Given the description of an element on the screen output the (x, y) to click on. 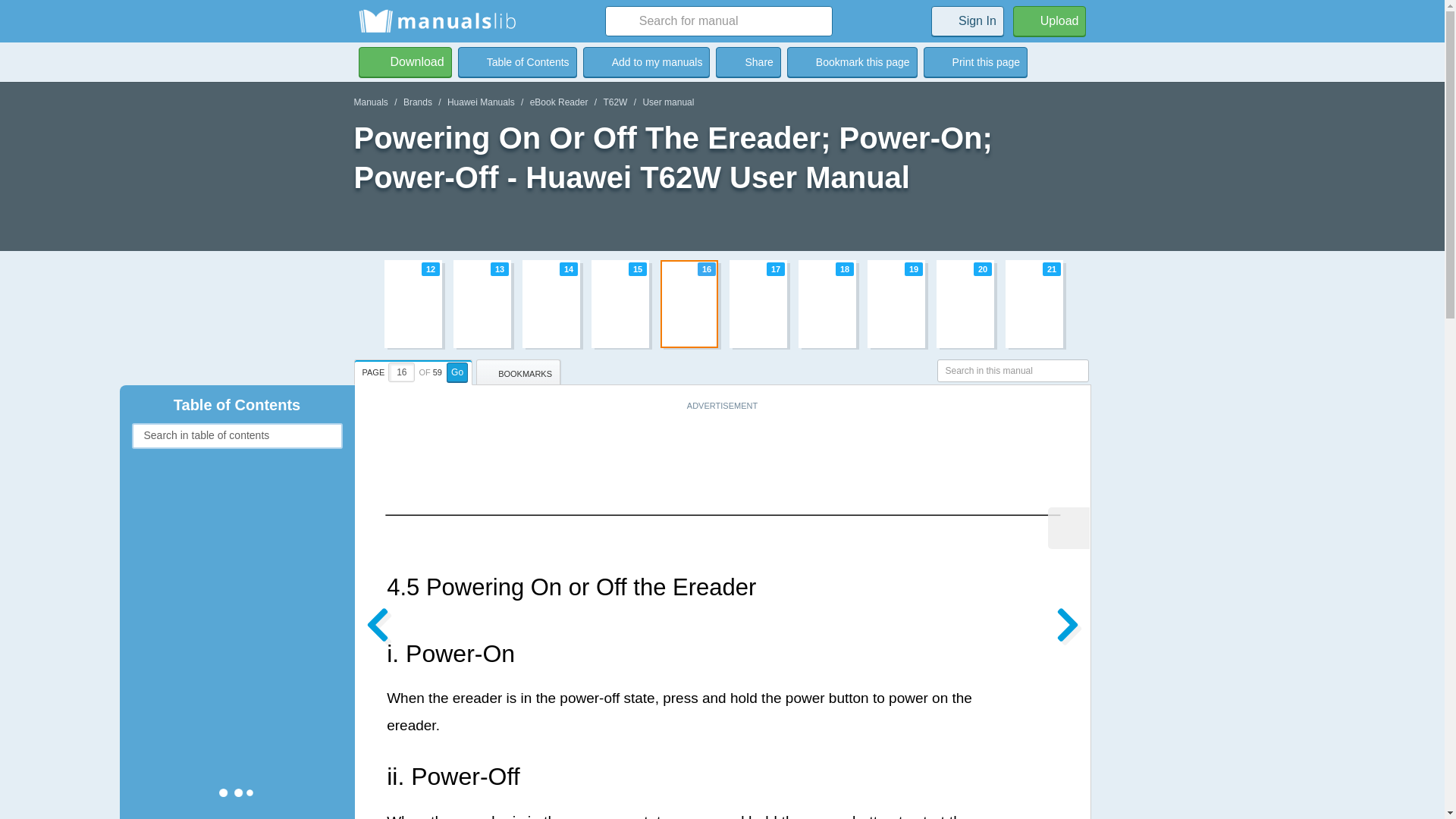
Brands (417, 102)
Print this page (975, 61)
Download this manual (404, 61)
User manual (721, 303)
Share this manual (668, 102)
16 (748, 61)
Bookmark this manual (401, 372)
eBook Reader (646, 61)
Huawei Manuals (558, 102)
Upload new manual (480, 102)
T62W (1049, 20)
Add to my manuals (614, 102)
Table of Contents (646, 61)
Manuals Library (517, 61)
